Given the description of an element on the screen output the (x, y) to click on. 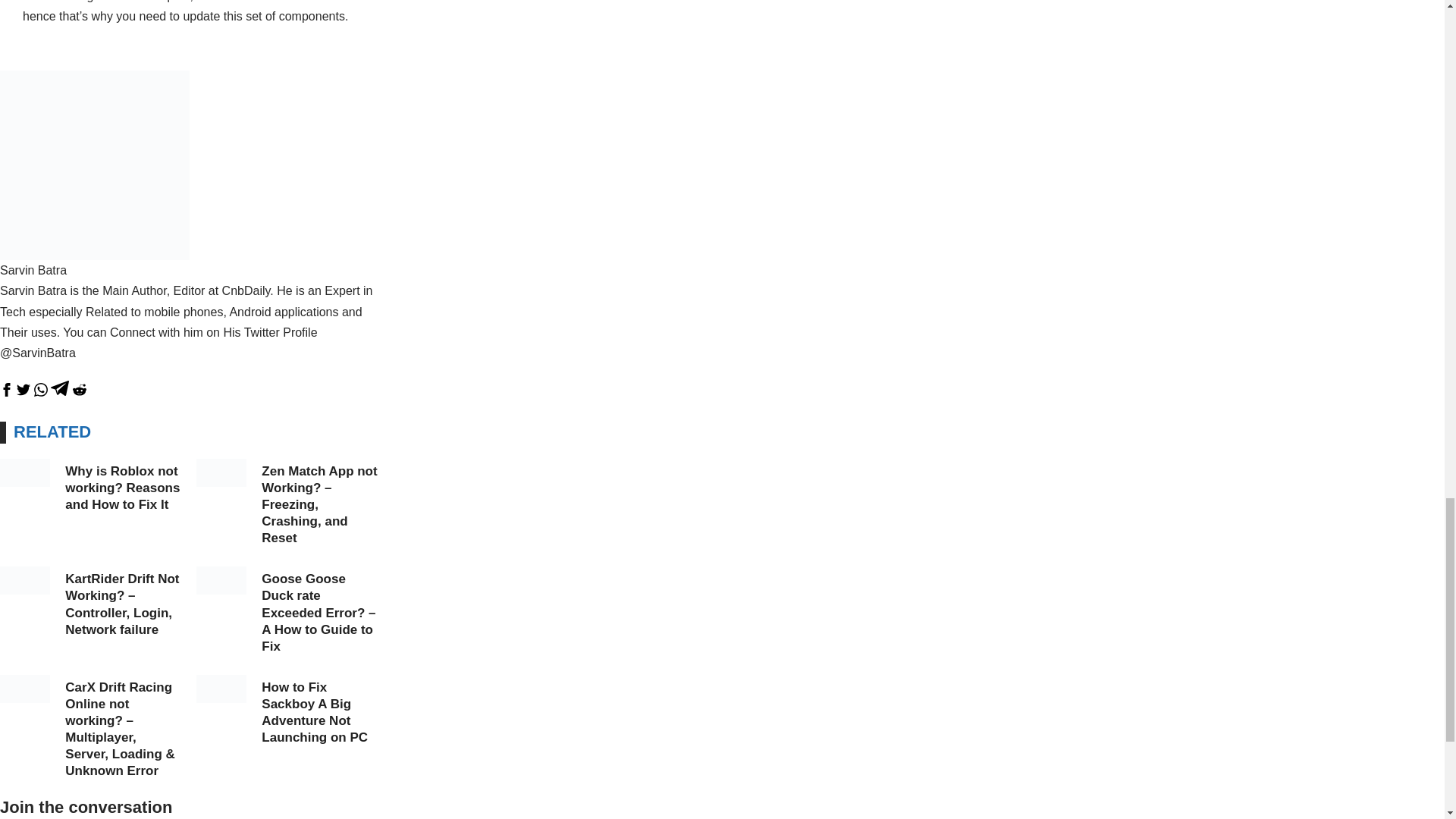
Why is Roblox not working? Reasons and How to Fix It (122, 487)
